Given the description of an element on the screen output the (x, y) to click on. 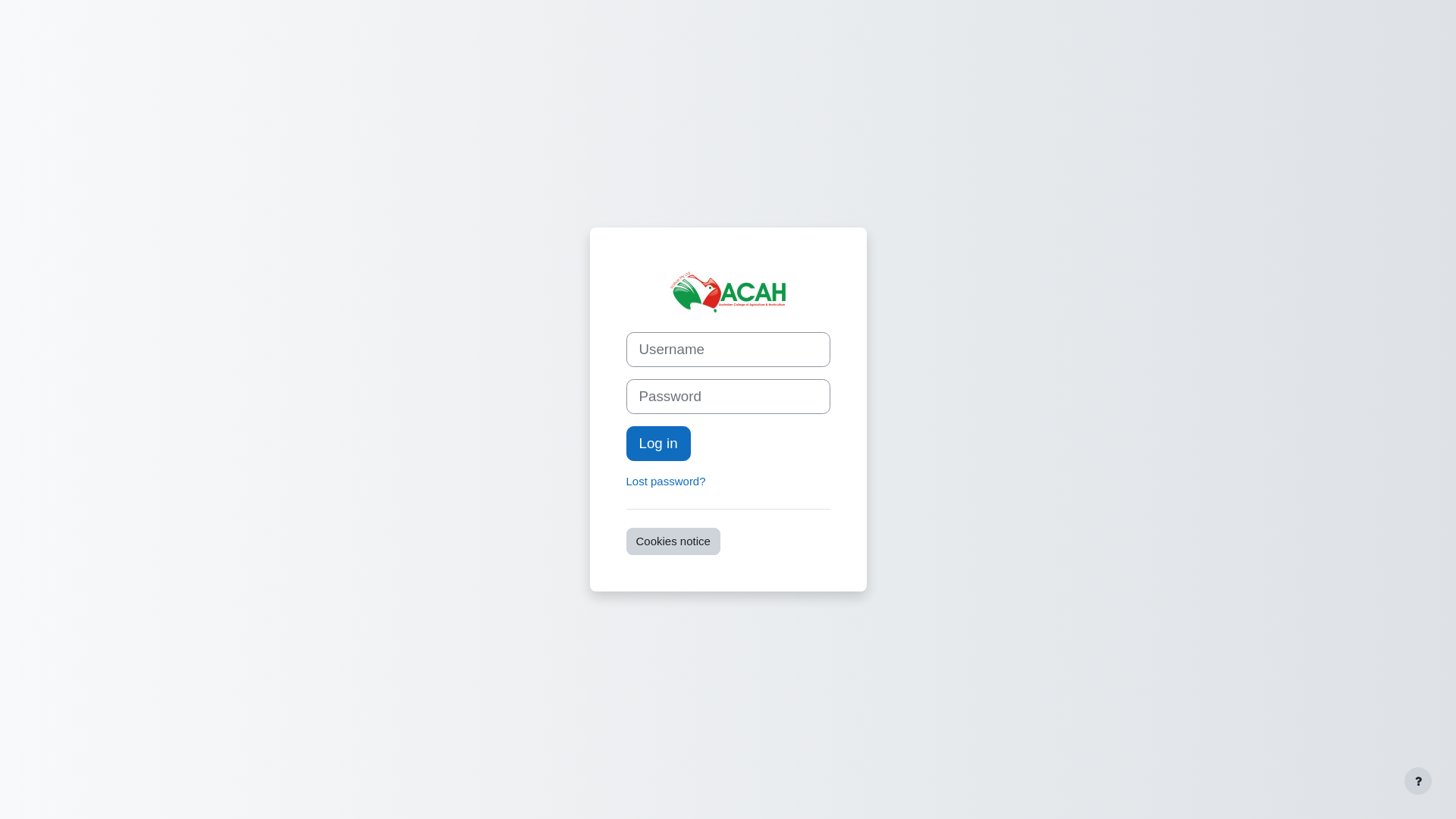
Log in Element type: text (658, 443)
Cookies notice Element type: text (673, 541)
Lost password? Element type: text (666, 480)
